Given the description of an element on the screen output the (x, y) to click on. 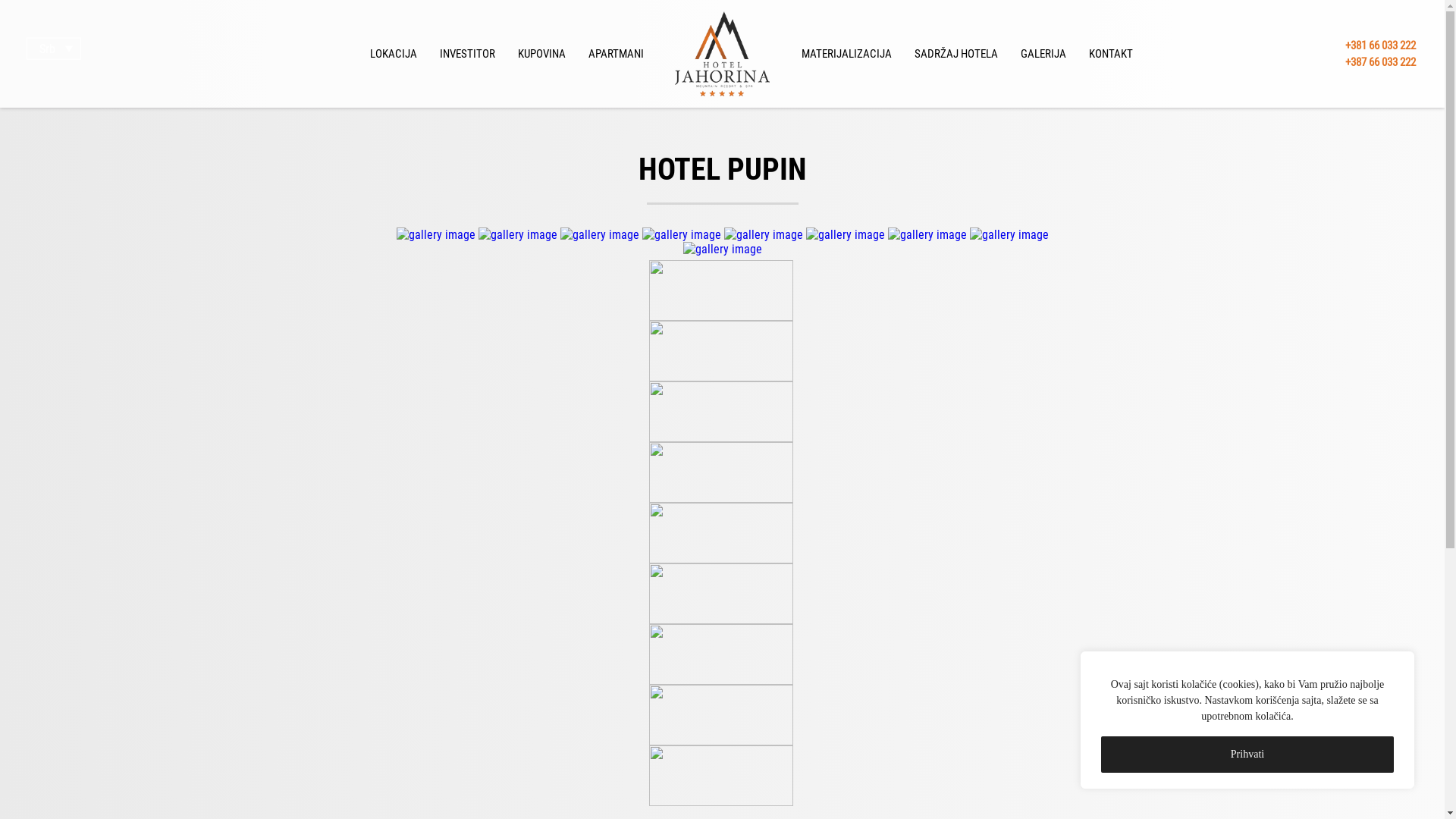
Car Name Element type: hover (928, 234)
LOKACIJA Element type: text (392, 53)
APARTMANI Element type: text (615, 53)
KUPOVINA Element type: text (541, 53)
Car Name Element type: hover (846, 234)
GALERIJA Element type: text (1042, 53)
+381 66 033 222 Element type: text (1380, 44)
Car Name Element type: hover (1008, 234)
Car Name Element type: hover (600, 234)
Car Name Element type: hover (721, 248)
Car Name Element type: hover (436, 234)
Srb Element type: text (53, 48)
+387 66 033 222 Element type: text (1380, 62)
MATERIJALIZACIJA Element type: text (846, 53)
Prihvati Element type: text (1247, 754)
KONTAKT Element type: text (1109, 53)
Car Name Element type: hover (682, 234)
Car Name Element type: hover (764, 234)
INVESTITOR Element type: text (466, 53)
Car Name Element type: hover (518, 234)
